Given the description of an element on the screen output the (x, y) to click on. 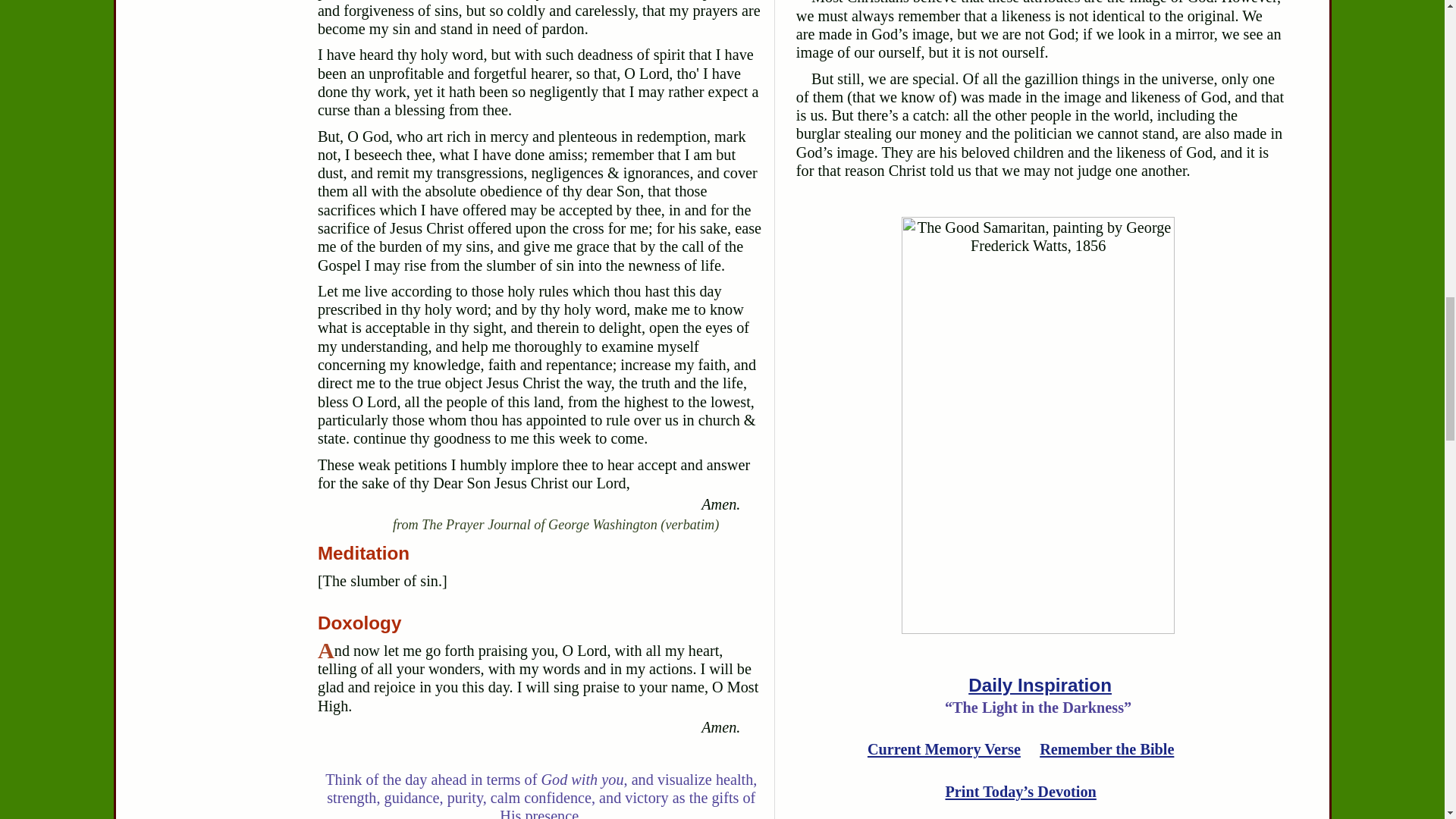
Daily Inspiration (1040, 684)
Current Memory Verse (943, 749)
Remember the Bible (1106, 749)
